Given the description of an element on the screen output the (x, y) to click on. 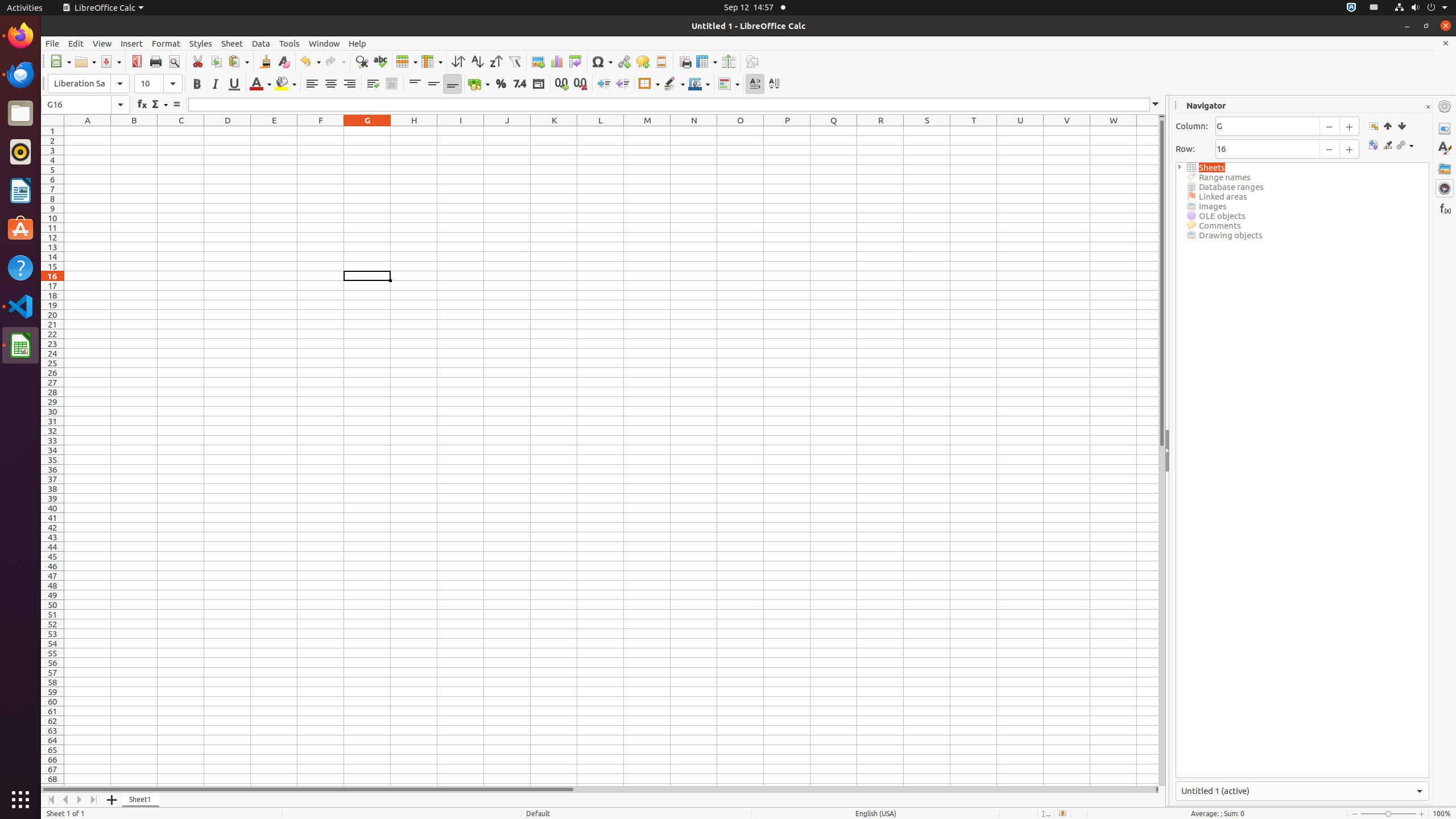
Print Area Element type: push-button (684, 61)
Window Element type: menu (324, 43)
Draw Functions Element type: toggle-button (751, 61)
Headers and Footers Element type: push-button (660, 61)
:1.21/StatusNotifierItem Element type: menu (1373, 7)
